Given the description of an element on the screen output the (x, y) to click on. 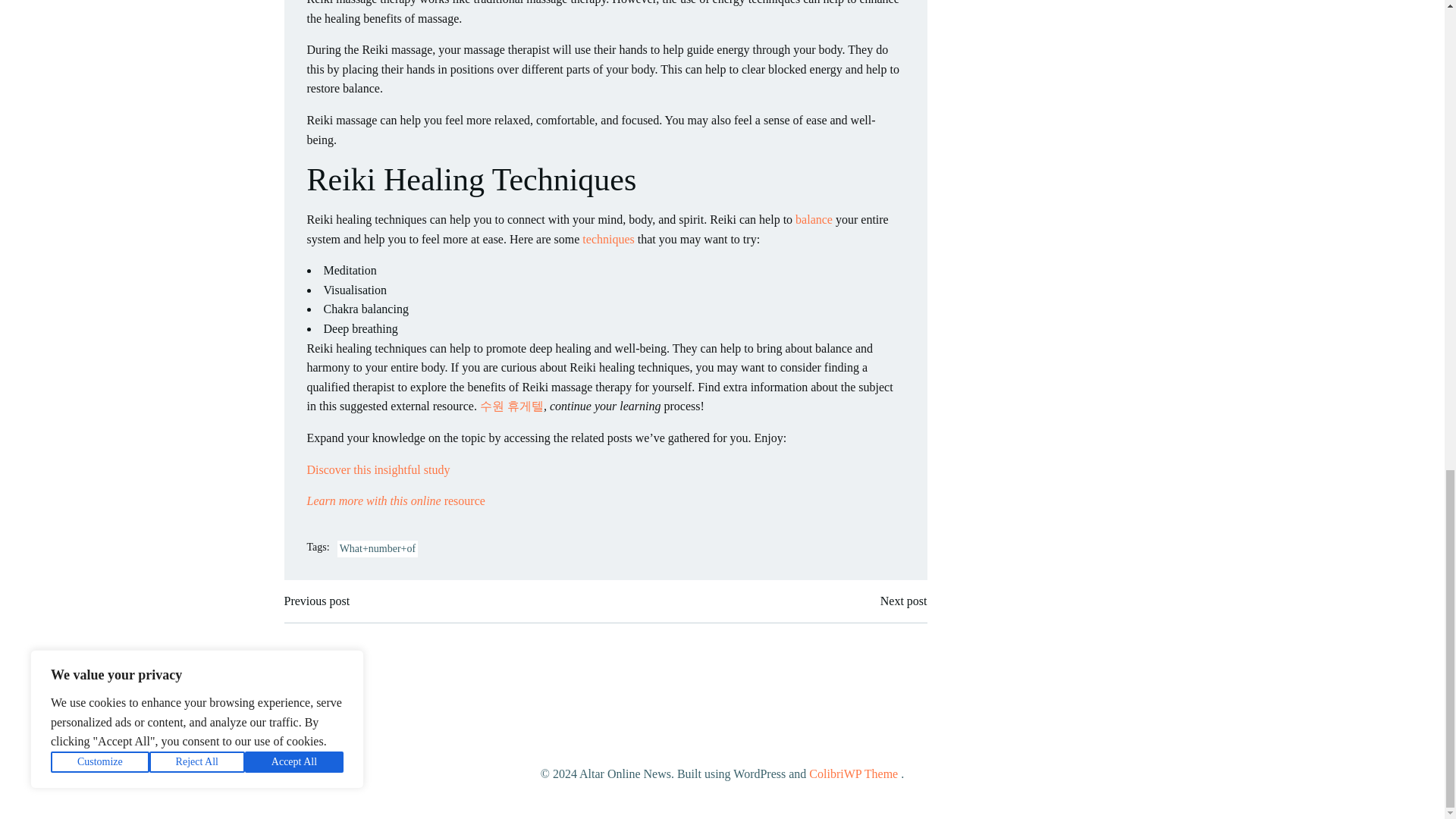
Learn more with this online resource (394, 500)
Discover this insightful study (377, 469)
balance (813, 219)
Previous post (316, 601)
techniques (607, 238)
Next post (903, 601)
